Given the description of an element on the screen output the (x, y) to click on. 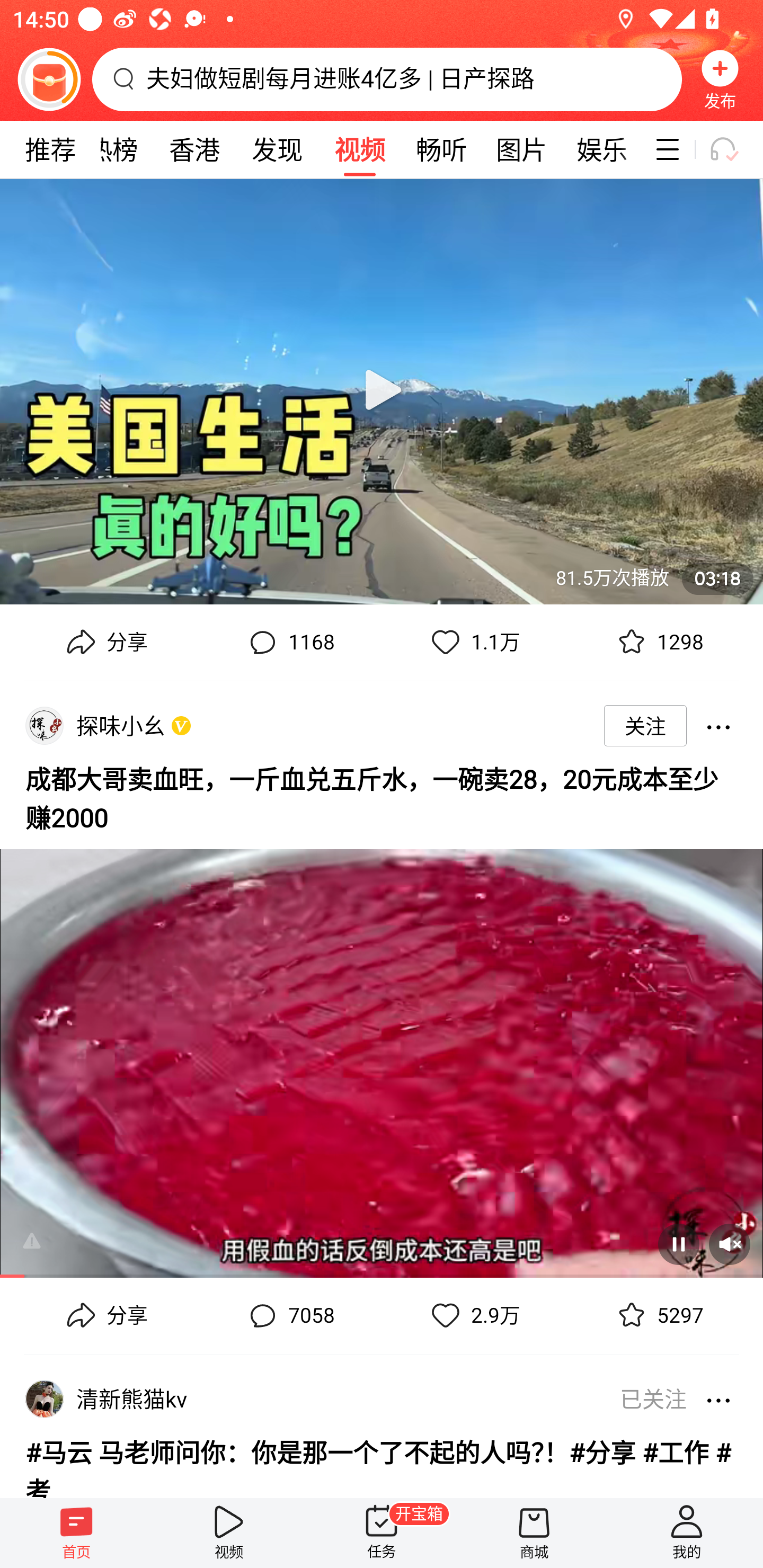
阅读赚金币 (48, 79)
夫妇做短剧每月进账4亿多 | 日产探路 搜索框，夫妇做短剧每月进账4亿多 | 日产探路 (387, 79)
发布 发布，按钮 (720, 78)
推荐 (49, 149)
香港 (194, 149)
发现 (276, 149)
视频 (359, 149)
畅听 (441, 149)
图片 (521, 149)
娱乐 (601, 149)
听一听开关 (732, 149)
播放视频 81.5万次播放 (381, 390)
分享 (104, 641)
评论,1168 1168 (288, 641)
收藏,1298 1298 (658, 641)
更多 (718, 725)
关注 (645, 725)
探味小幺头像 (44, 725)
探味小幺 探味小幺  已认证 (123, 725)
成都大哥卖血旺，一斤血兑五斤水，一碗卖28，20元成本至少赚2000 (381, 795)
视频播放器，双击唤起播放控制 取消静音 请健康饮食，拒绝浪费 (381, 1055)
请健康饮食，拒绝浪费 (44, 1240)
取消静音 (729, 1244)
分享 (104, 1315)
评论,7058 7058 (288, 1315)
收藏,5297 5297 (658, 1315)
更多 (718, 1398)
清新熊猫kv头像 (44, 1398)
清新熊猫kv (134, 1398)
已关注 (647, 1398)
#马云 马老师问你：你是那一个了不起的人吗？！#分享 #工作 #考 (381, 1463)
首页 (76, 1532)
视频 (228, 1532)
任务 开宝箱 (381, 1532)
商城 (533, 1532)
我的 (686, 1532)
